Given the description of an element on the screen output the (x, y) to click on. 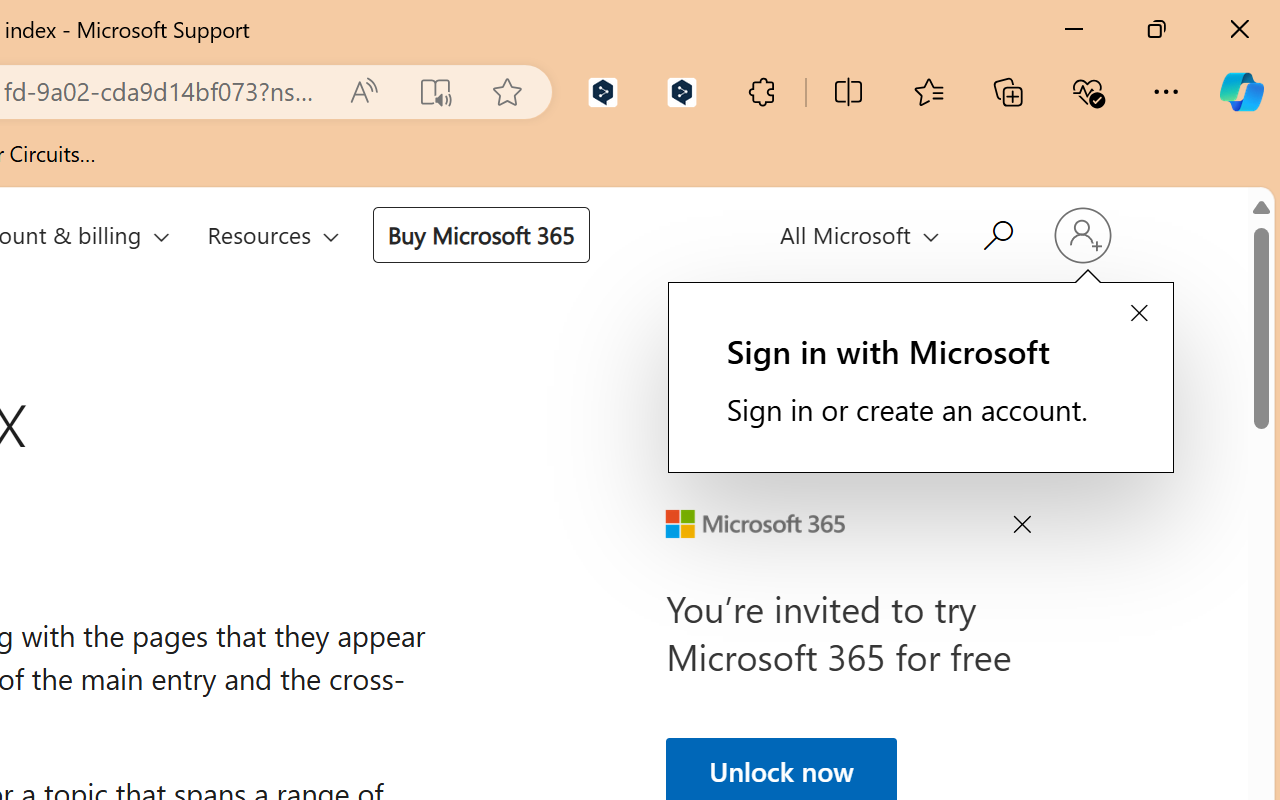
Buy Microsoft 365 (480, 234)
Close Ad (1021, 527)
Close callout prompt. (1137, 314)
Search for help (995, 232)
Buy Microsoft 365 (480, 234)
Sign in to your account (1082, 235)
